Given the description of an element on the screen output the (x, y) to click on. 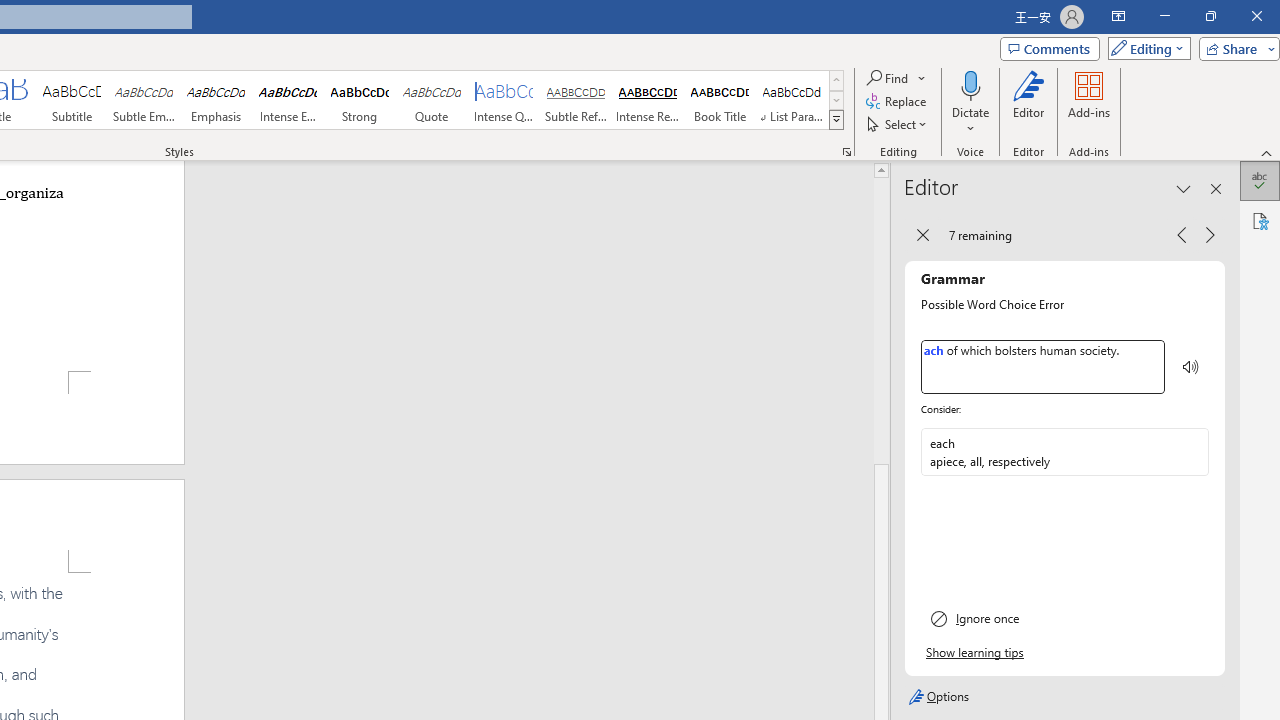
Intense Reference (647, 100)
Subtle Reference (575, 100)
